Given the description of an element on the screen output the (x, y) to click on. 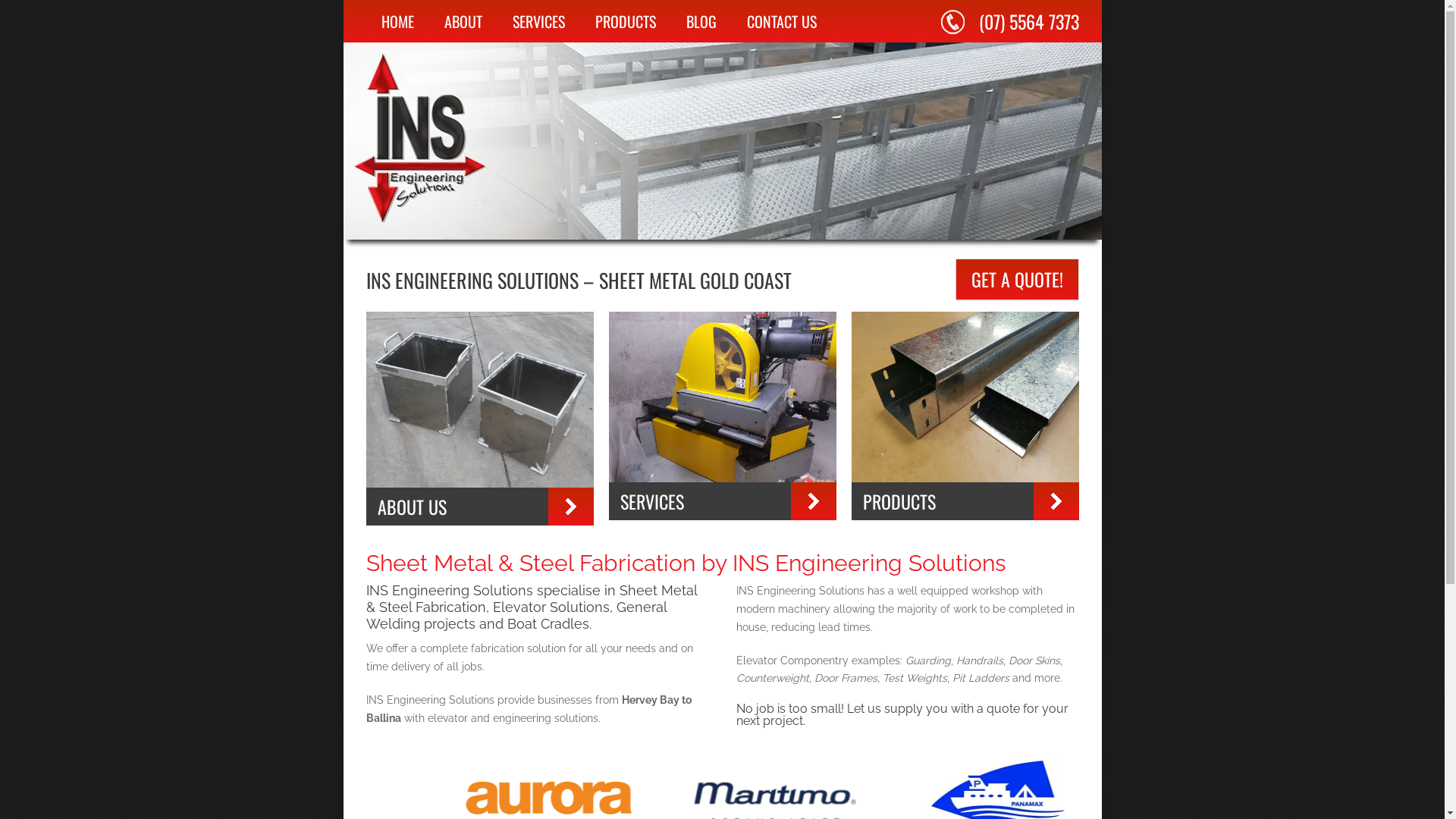
BLOG Element type: text (700, 21)
PRODUCTS Element type: text (898, 500)
CONTACT US Element type: text (781, 21)
GET A QUOTE! Element type: text (1017, 279)
ABOUT Element type: text (463, 21)
SERVICES Element type: text (652, 500)
ABOUT US Element type: text (411, 506)
HOME Element type: text (396, 21)
PRODUCTS Element type: text (624, 21)
SERVICES Element type: text (538, 21)
quote Element type: text (1002, 708)
